Given the description of an element on the screen output the (x, y) to click on. 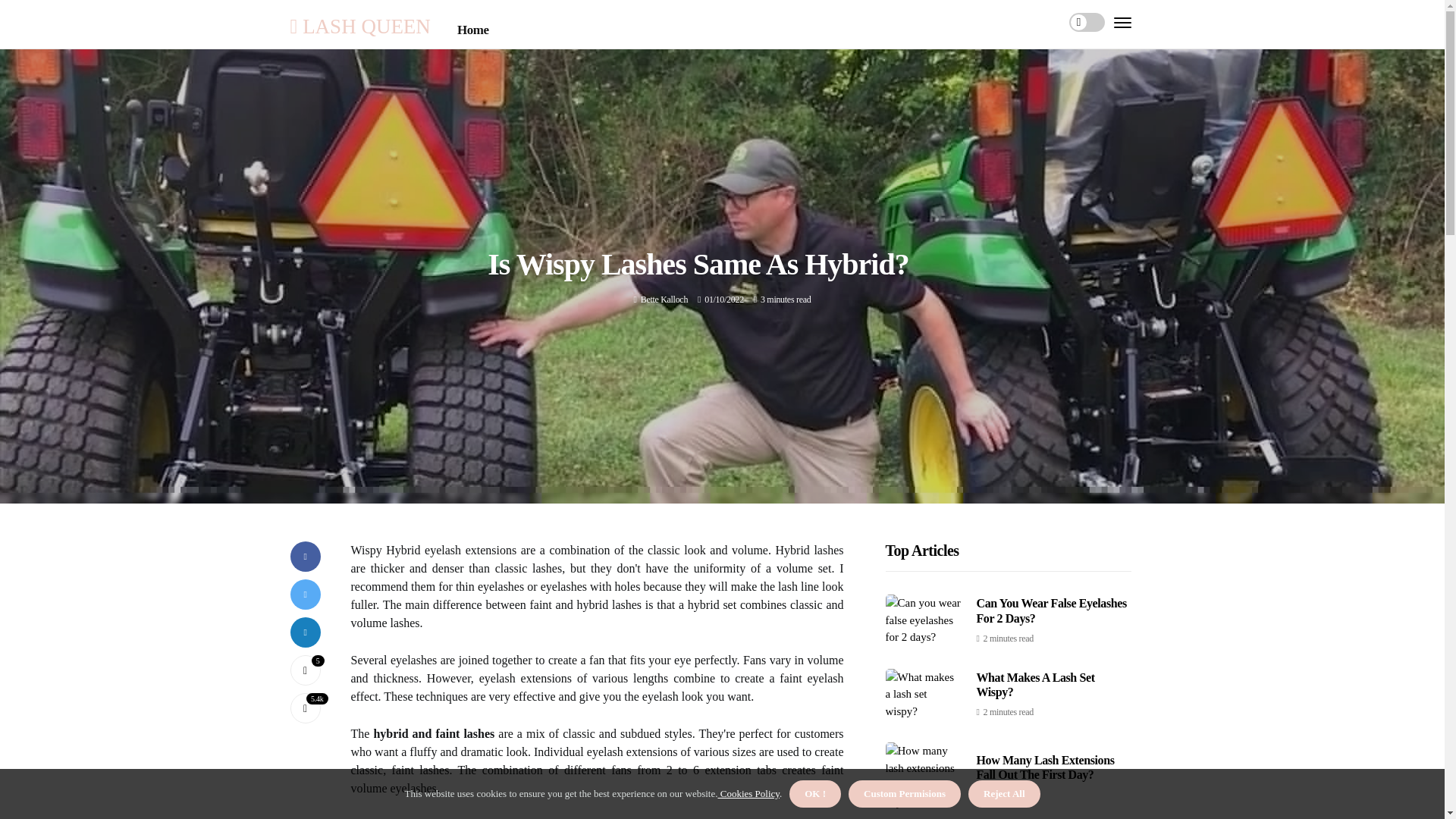
How Many Lash Extensions Fall Out The First Day? (1045, 767)
Like (304, 670)
Can You Wear False Eyelashes For 2 Days? (1051, 610)
LASH QUEEN (359, 26)
Posts by Bette Kalloch (663, 299)
Bette Kalloch (663, 299)
5 (304, 670)
What Makes A Lash Set Wispy? (1035, 684)
